Given the description of an element on the screen output the (x, y) to click on. 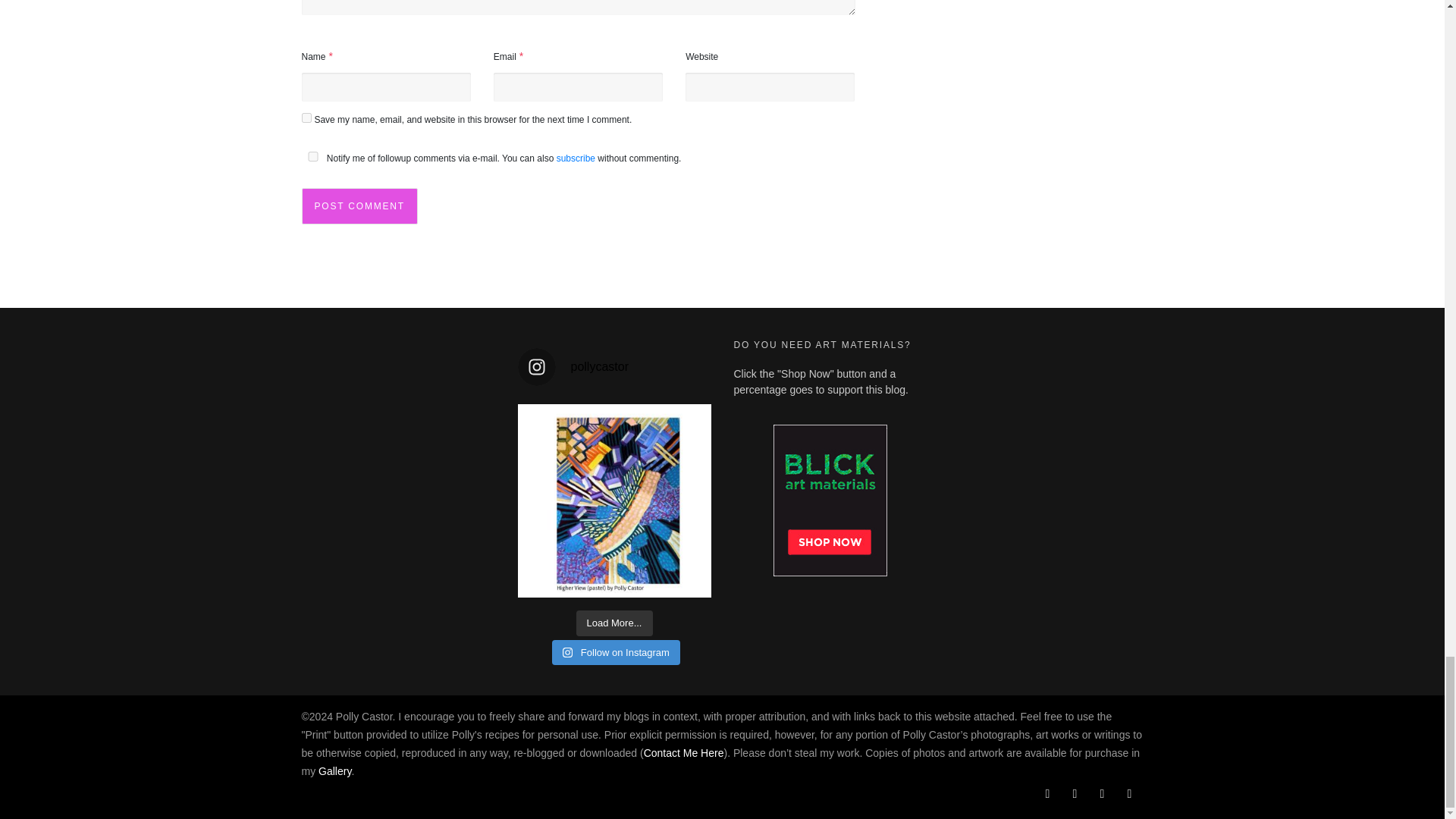
yes (312, 156)
yes (306, 117)
Post comment (359, 206)
